Given the description of an element on the screen output the (x, y) to click on. 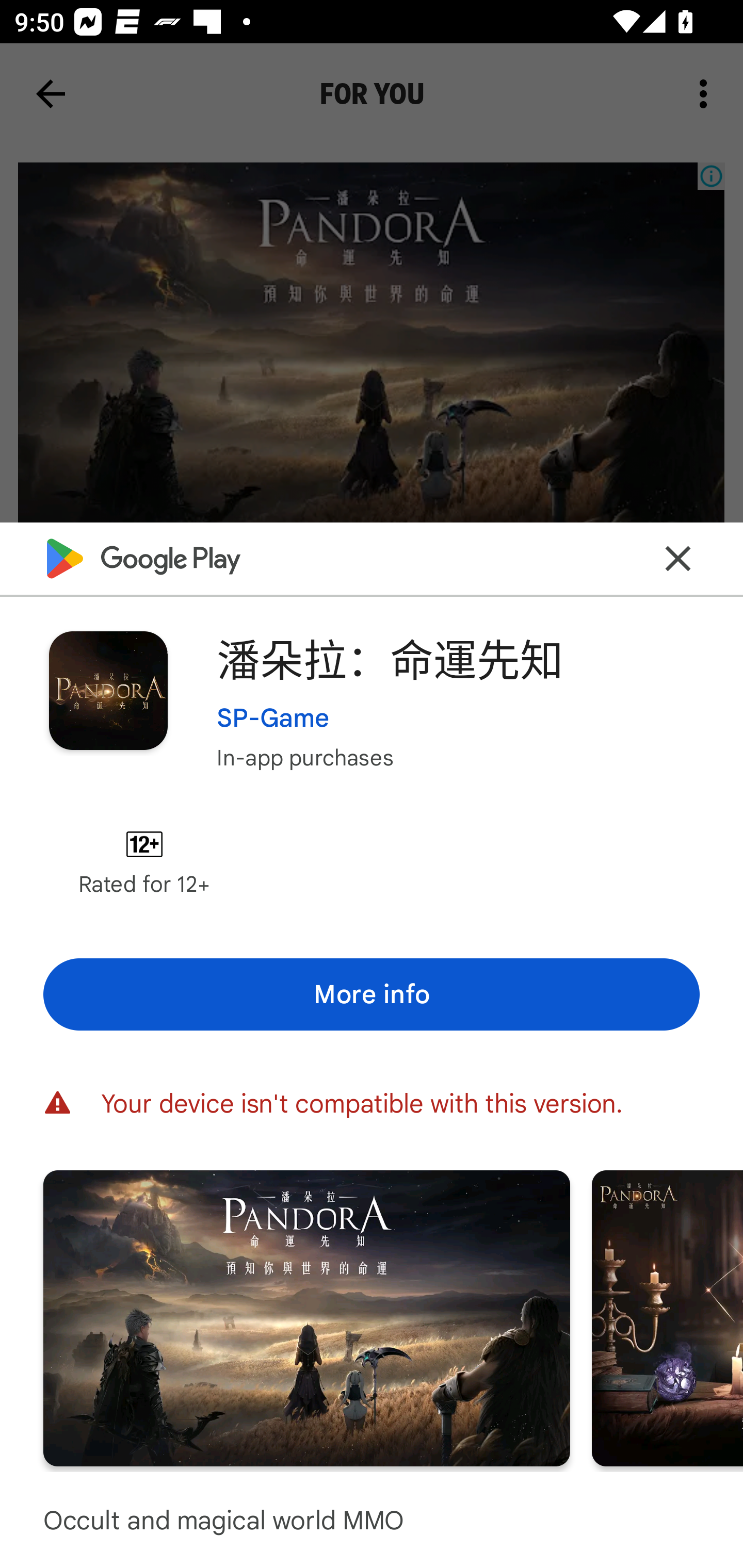
Close (677, 558)
Image of app or game icon for 潘朵拉：命運先知 (108, 690)
SP-Game (272, 716)
More info (371, 994)
Screenshot "1" of "6" (306, 1317)
